Given the description of an element on the screen output the (x, y) to click on. 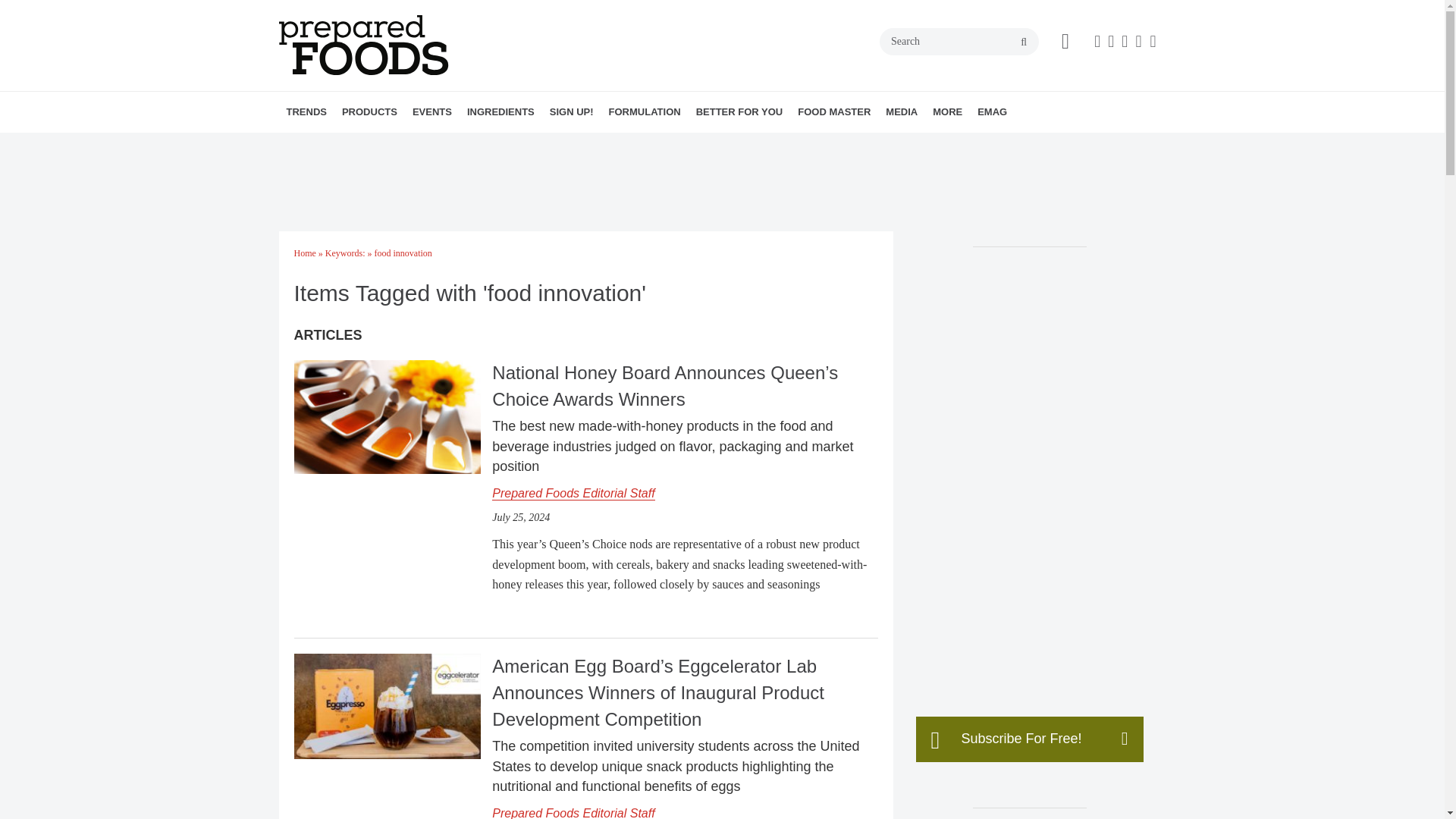
SOUPS (472, 145)
BEVERAGES (436, 145)
CANNABIS (452, 145)
twitter (1123, 41)
FEATURED PRODUCTS (474, 145)
NEW PRODUCTS CONFERENCE (499, 145)
COLORINGS (560, 145)
EVENTS (432, 111)
Eggpresso Product Egg Board Competition Winner (387, 706)
Search (959, 41)
facebook (1097, 41)
search (1023, 42)
youtube (1153, 41)
2024 TRENDS (373, 145)
PRODUCTS (369, 111)
